Given the description of an element on the screen output the (x, y) to click on. 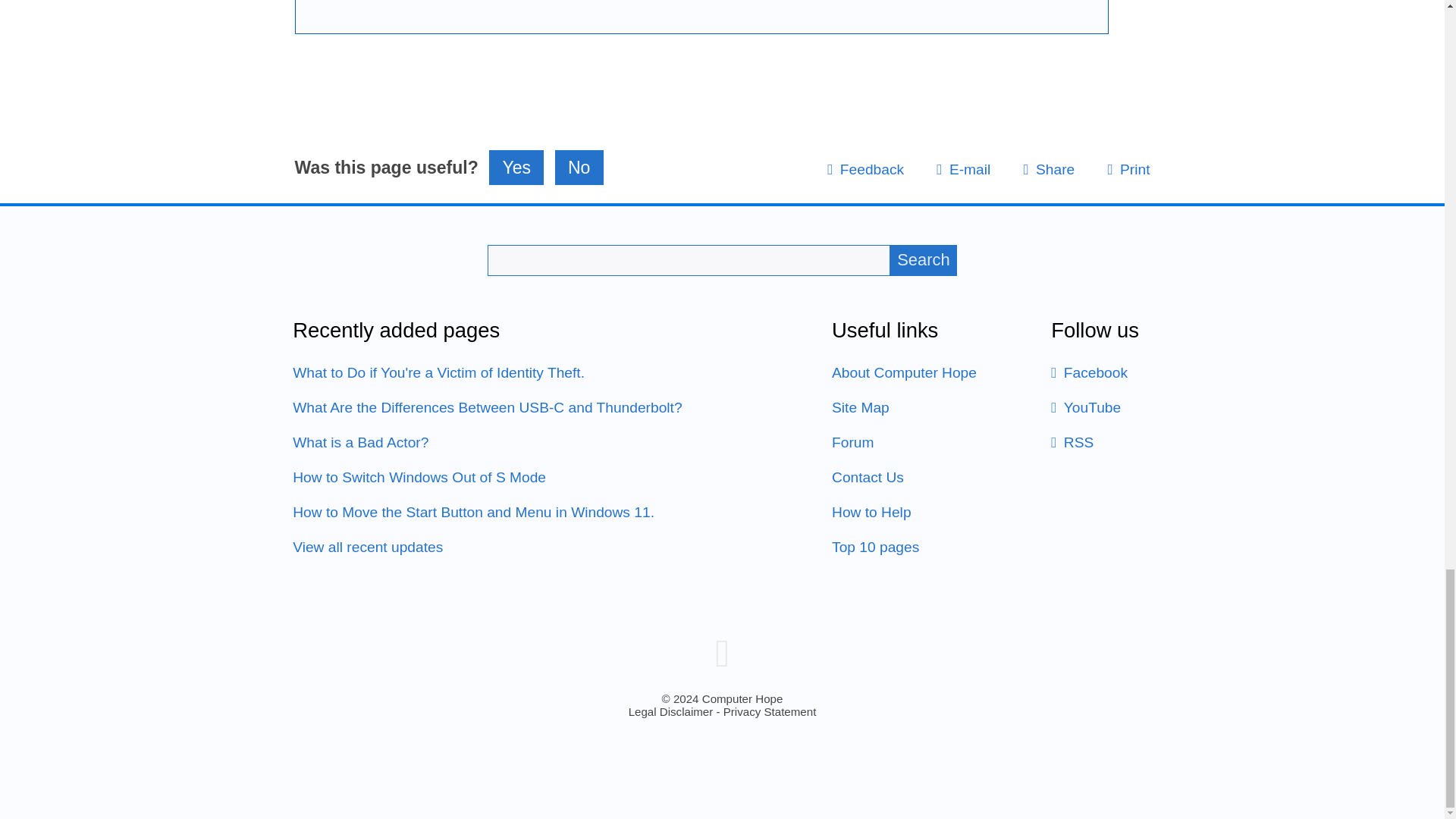
About Computer Hope (903, 372)
Share this page with friends and social networks (1048, 169)
Computer Hope home page (721, 652)
How to Switch Windows Out of S Mode (419, 477)
Print a copy of this page (1128, 169)
Feedback (865, 169)
Print (1128, 169)
What to Do if You're a Victim of Identity Theft. (438, 372)
Give us your feedback about this page (865, 169)
Contact Us (867, 477)
